Given the description of an element on the screen output the (x, y) to click on. 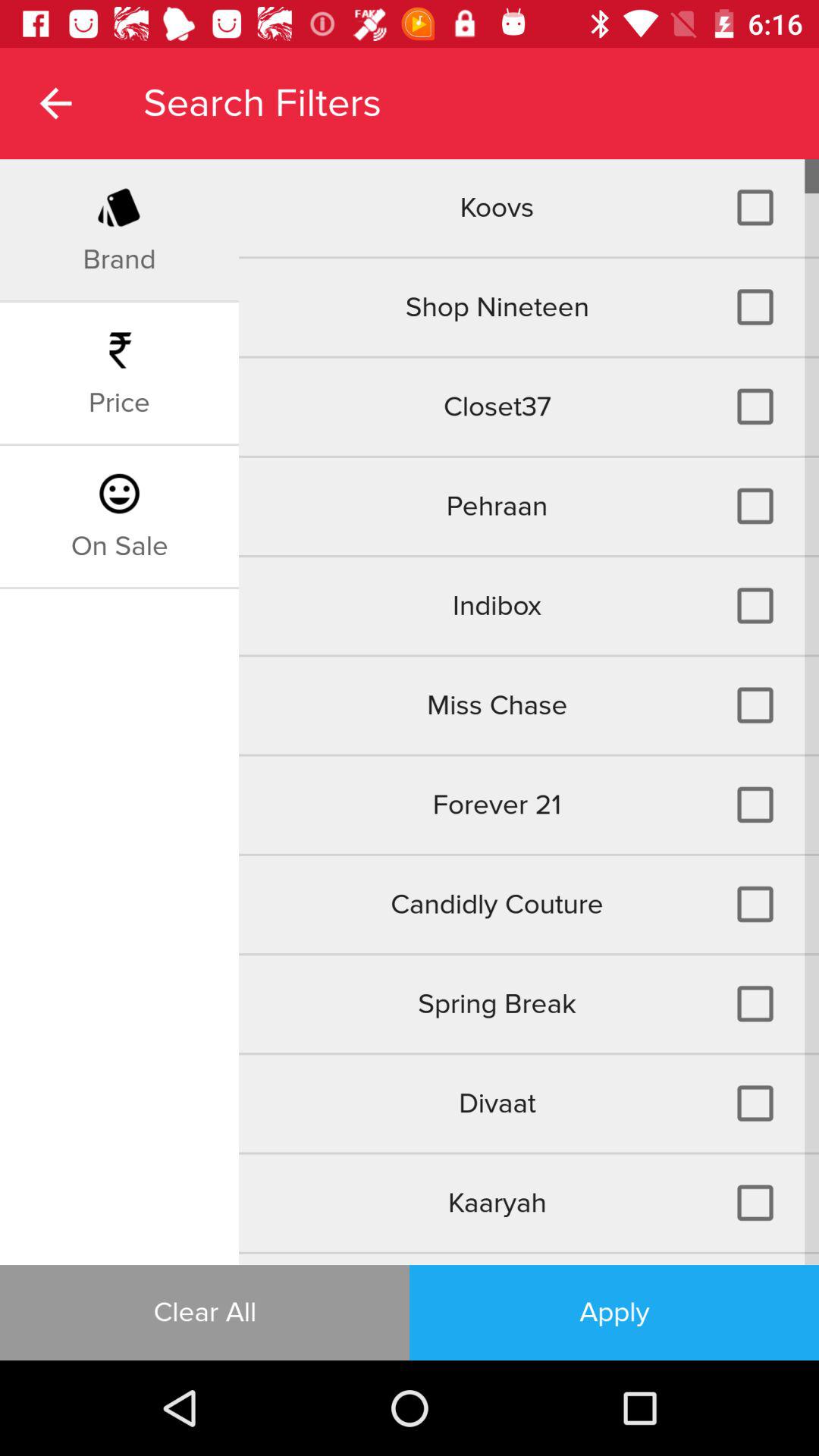
scroll to brand (119, 259)
